Given the description of an element on the screen output the (x, y) to click on. 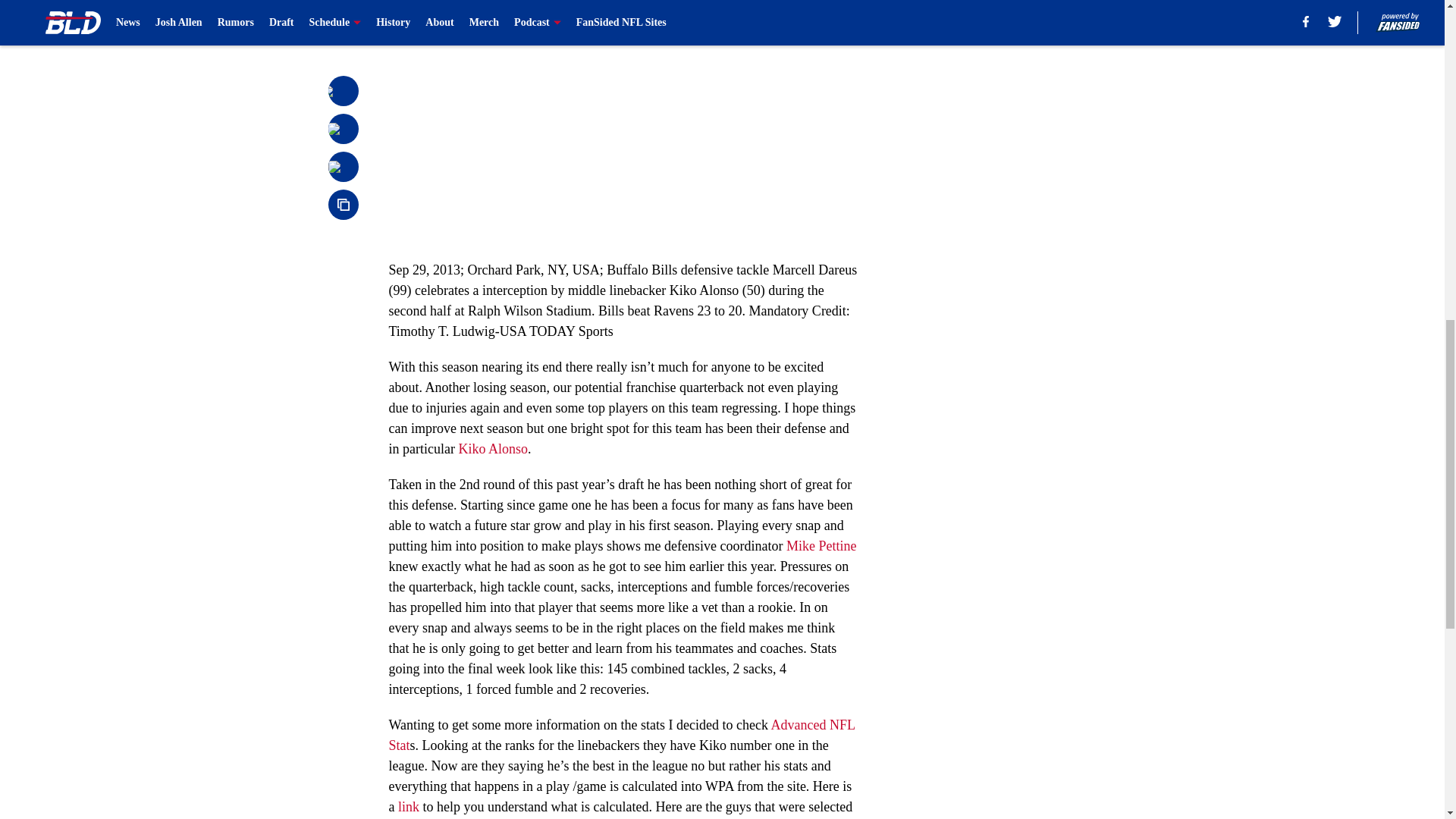
link (406, 806)
Mike Pettine (821, 545)
Kiko Alonso (492, 448)
Advanced NFL Stat (621, 734)
